Given the description of an element on the screen output the (x, y) to click on. 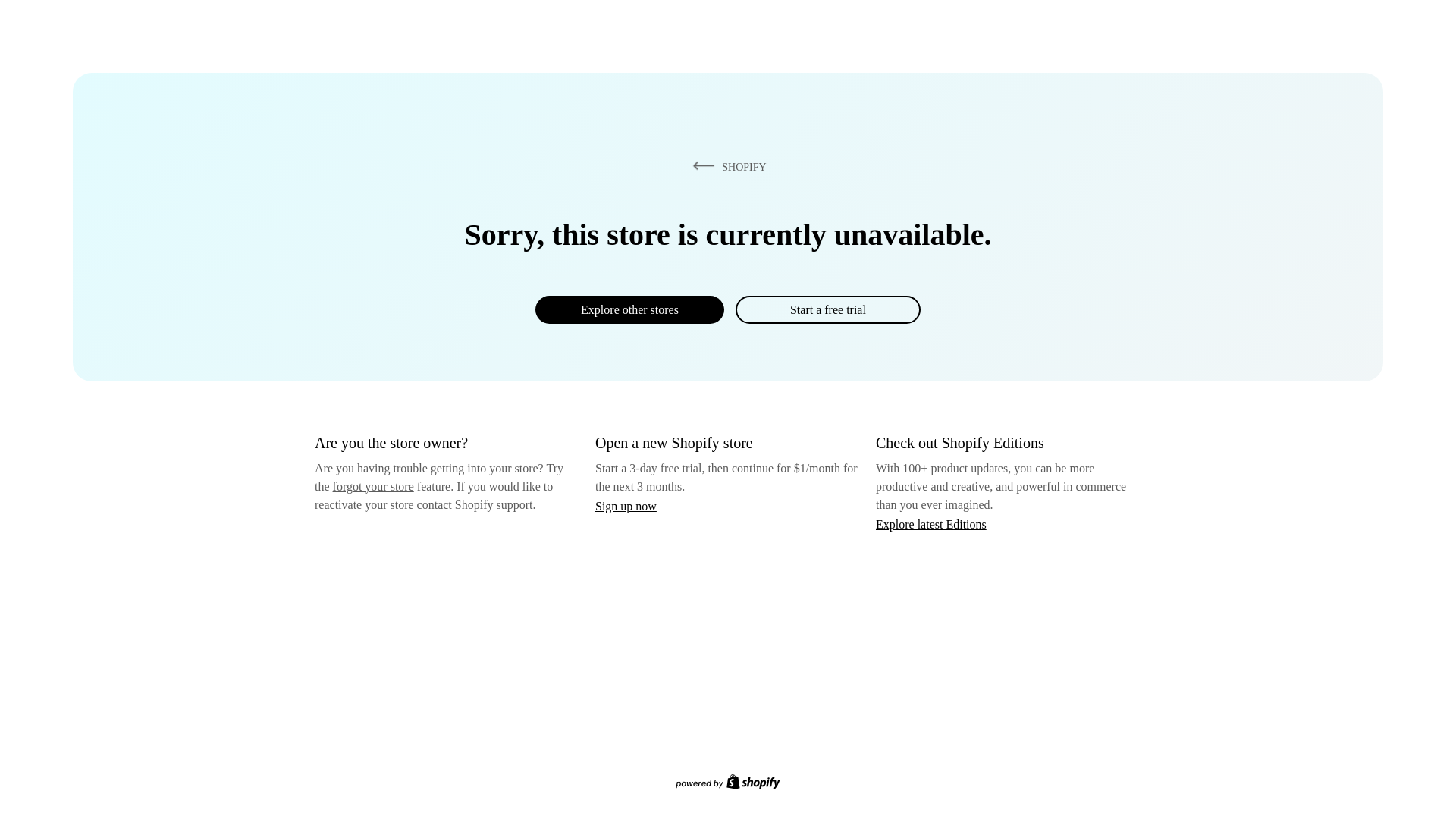
Explore other stores (629, 309)
forgot your store (373, 486)
Sign up now (625, 505)
SHOPIFY (726, 166)
Explore latest Editions (931, 523)
Shopify support (493, 504)
Start a free trial (827, 309)
